Given the description of an element on the screen output the (x, y) to click on. 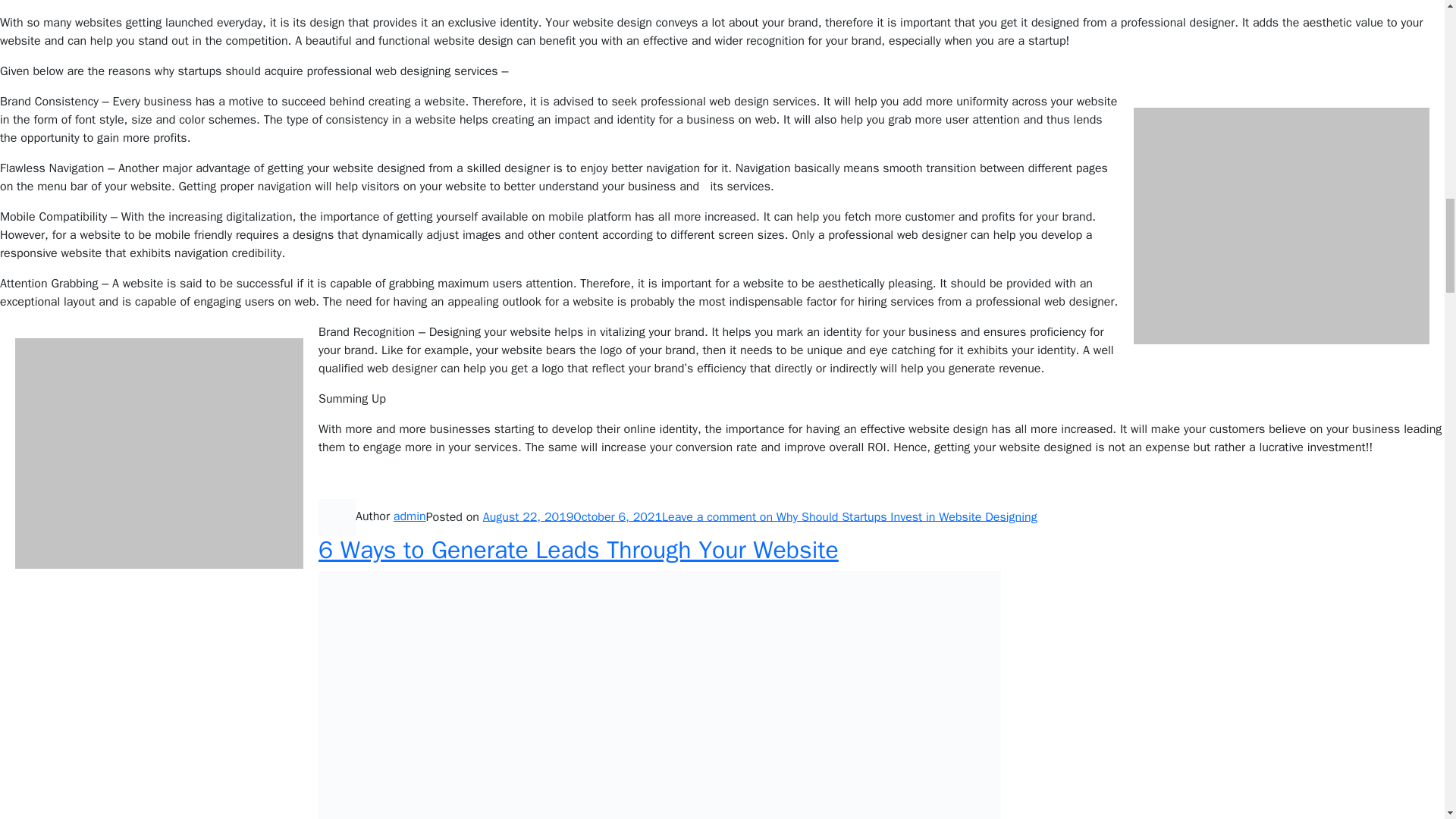
admin (409, 516)
6 Ways to Generate Leads Through Your Website (578, 549)
August 22, 2019October 6, 2021 (572, 516)
